Given the description of an element on the screen output the (x, y) to click on. 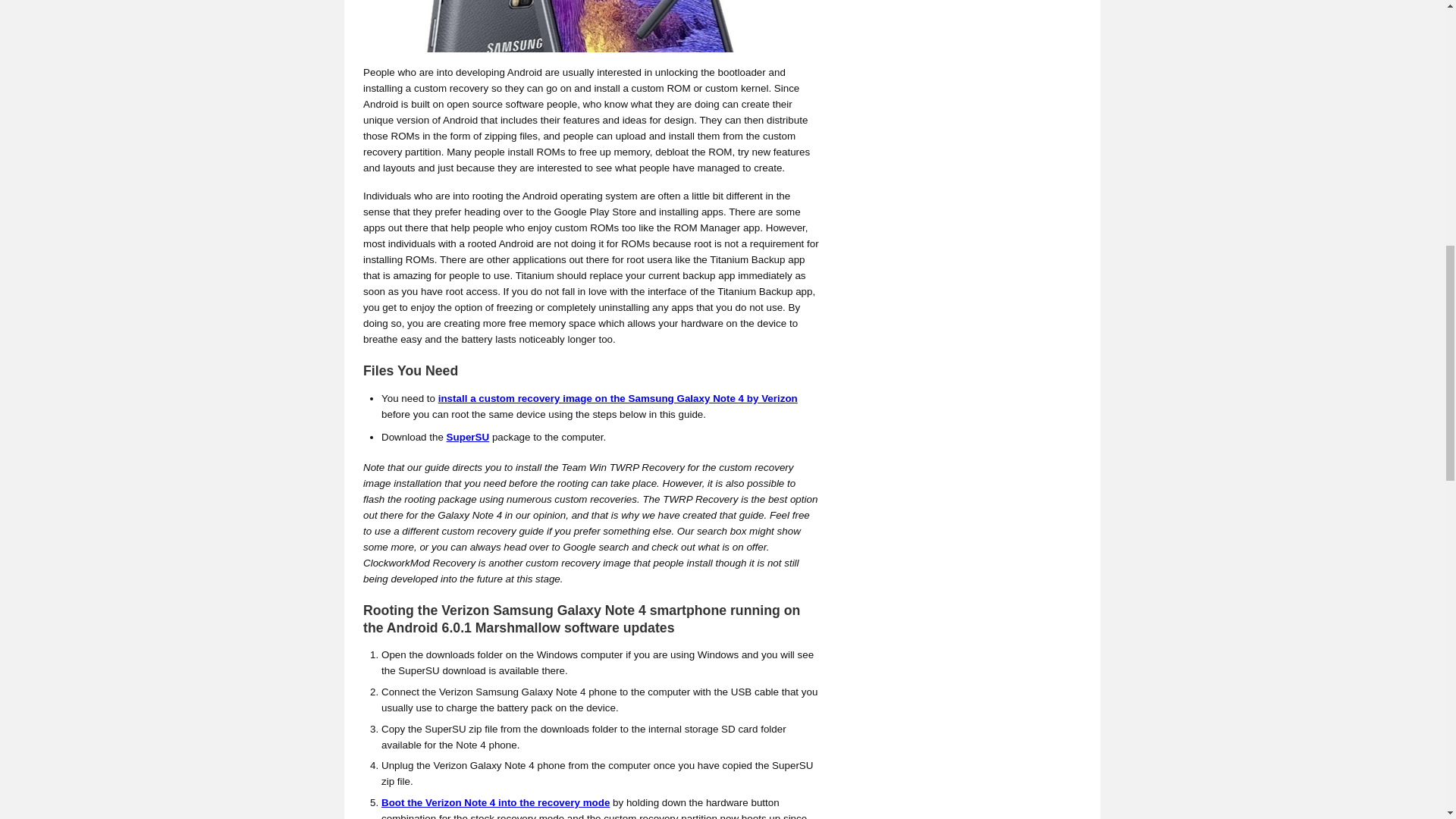
SuperSU (467, 437)
Boot the Verizon Note 4 into the recovery mode (495, 802)
